Given the description of an element on the screen output the (x, y) to click on. 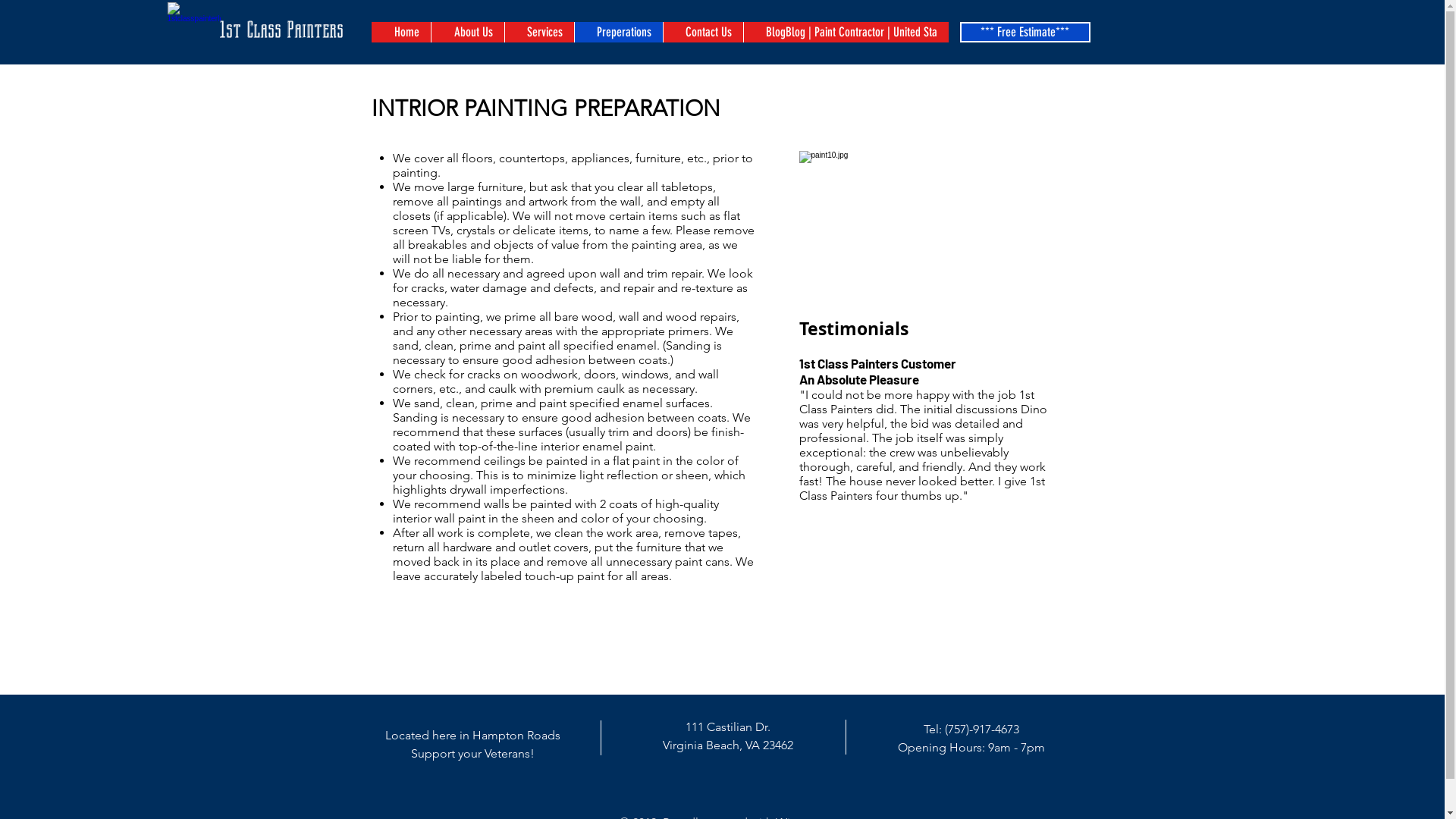
BlogBlog | Paint Contractor | United Sta Element type: text (845, 31)
Services Element type: text (538, 31)
Home Element type: text (400, 31)
Contact Us Element type: text (702, 31)
Preperations Element type: text (617, 31)
*** Free Estimate*** Element type: text (1025, 31)
About Us Element type: text (467, 31)
